Given the description of an element on the screen output the (x, y) to click on. 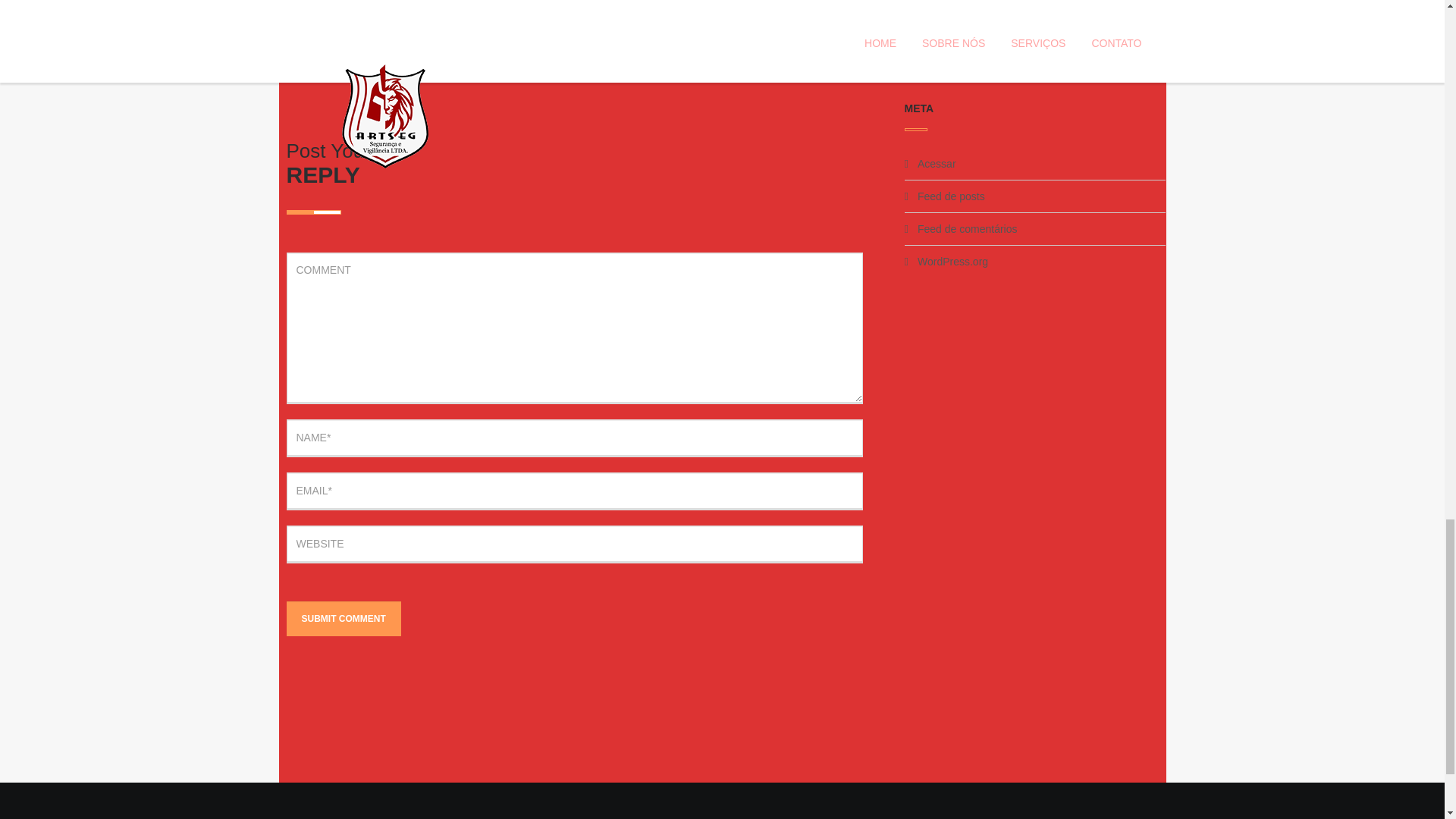
Submit Comment (343, 618)
Submit Comment (343, 618)
